Given the description of an element on the screen output the (x, y) to click on. 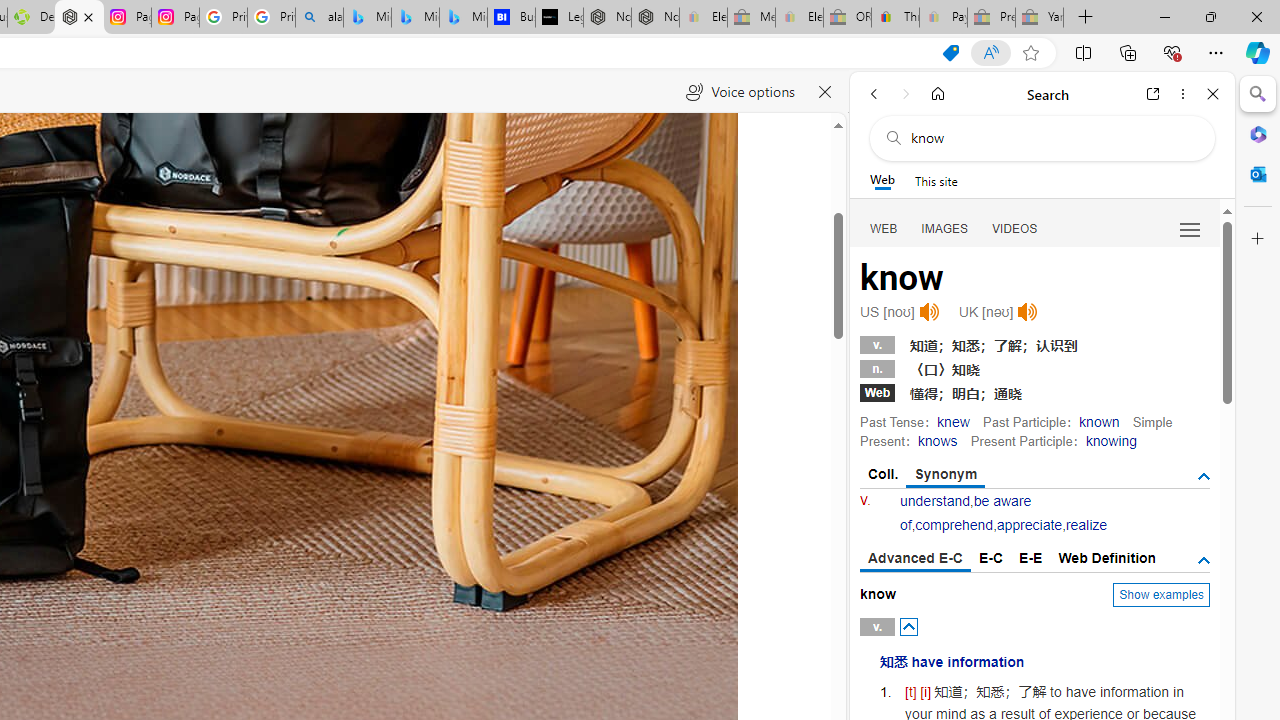
WEB (884, 228)
Close read aloud (825, 92)
Nordace - Nordace Edin Collection (79, 17)
Press Room - eBay Inc. - Sleeping (991, 17)
